Given the description of an element on the screen output the (x, y) to click on. 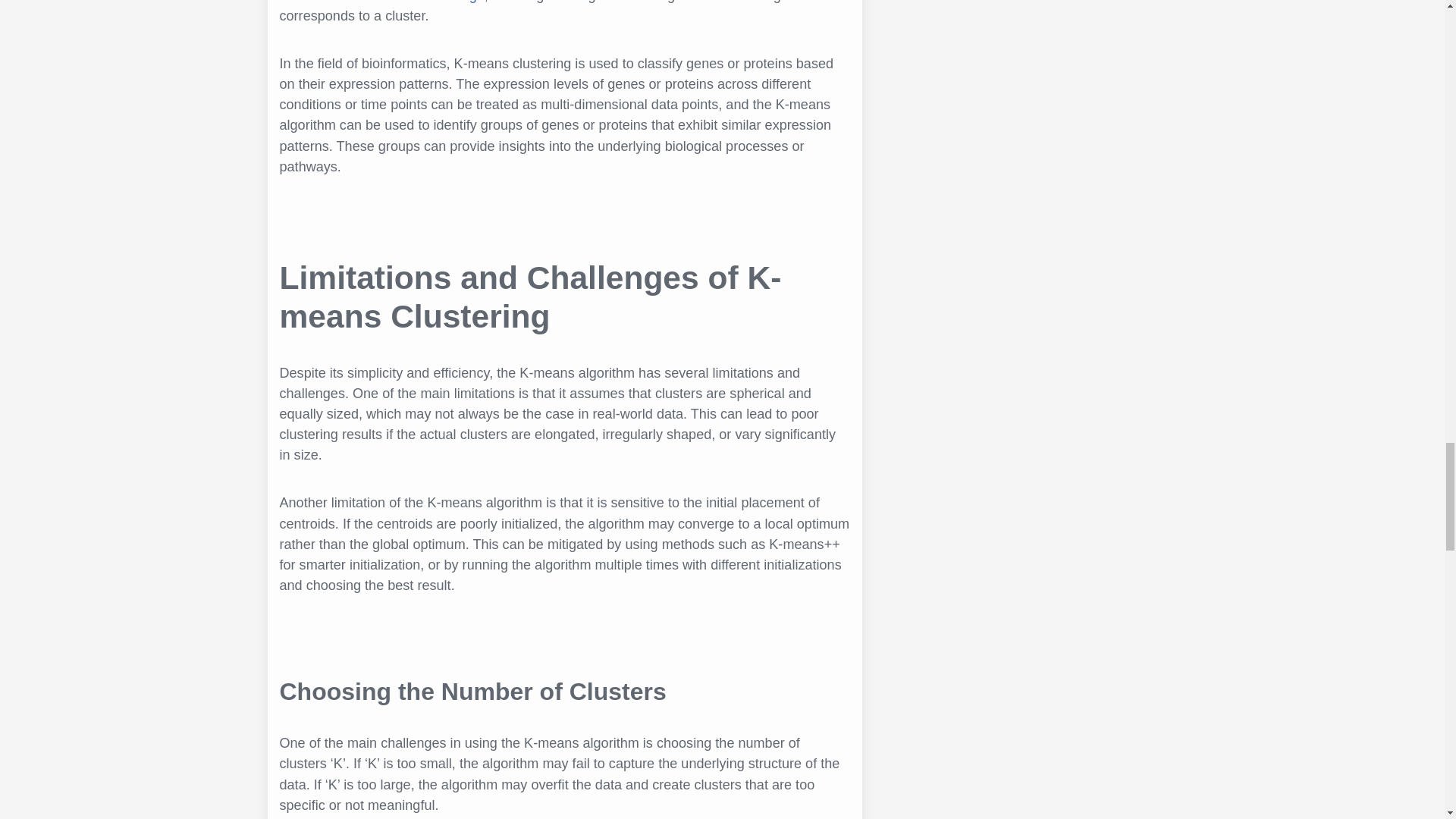
features extracted from the image (381, 1)
